Given the description of an element on the screen output the (x, y) to click on. 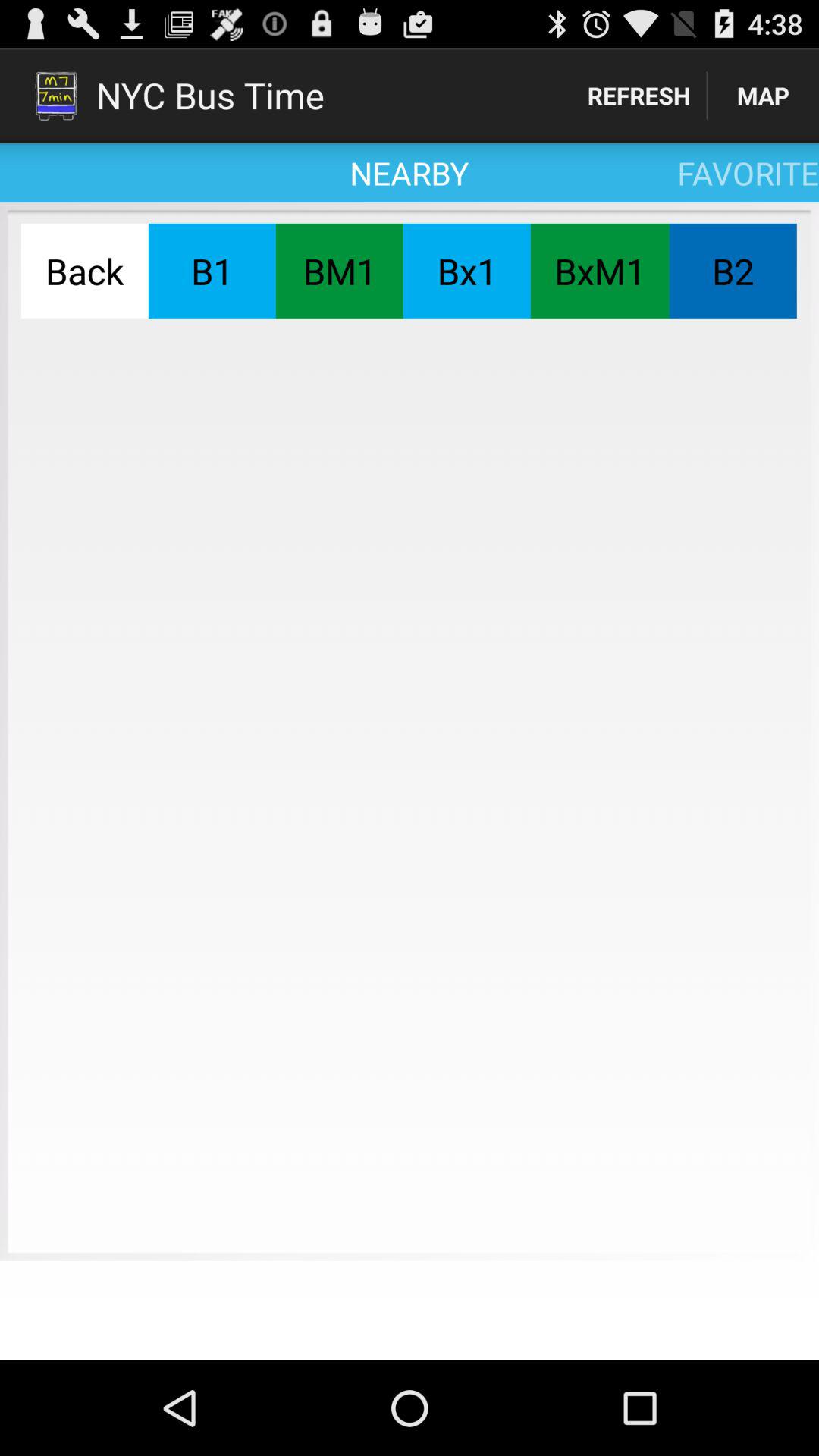
tap item to the left of b1 button (84, 271)
